Given the description of an element on the screen output the (x, y) to click on. 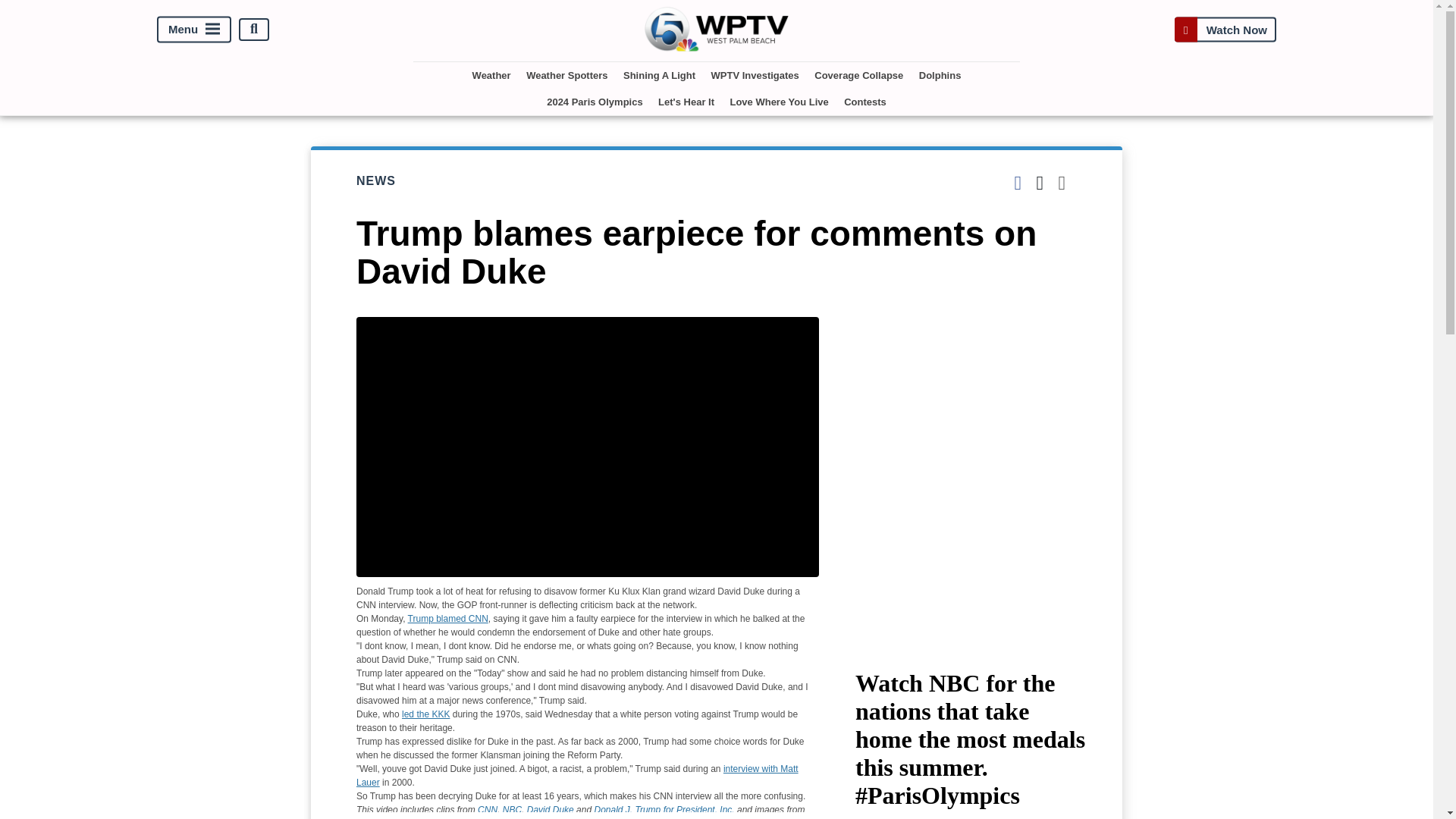
Menu (194, 28)
Watch Now (1224, 29)
